Given the description of an element on the screen output the (x, y) to click on. 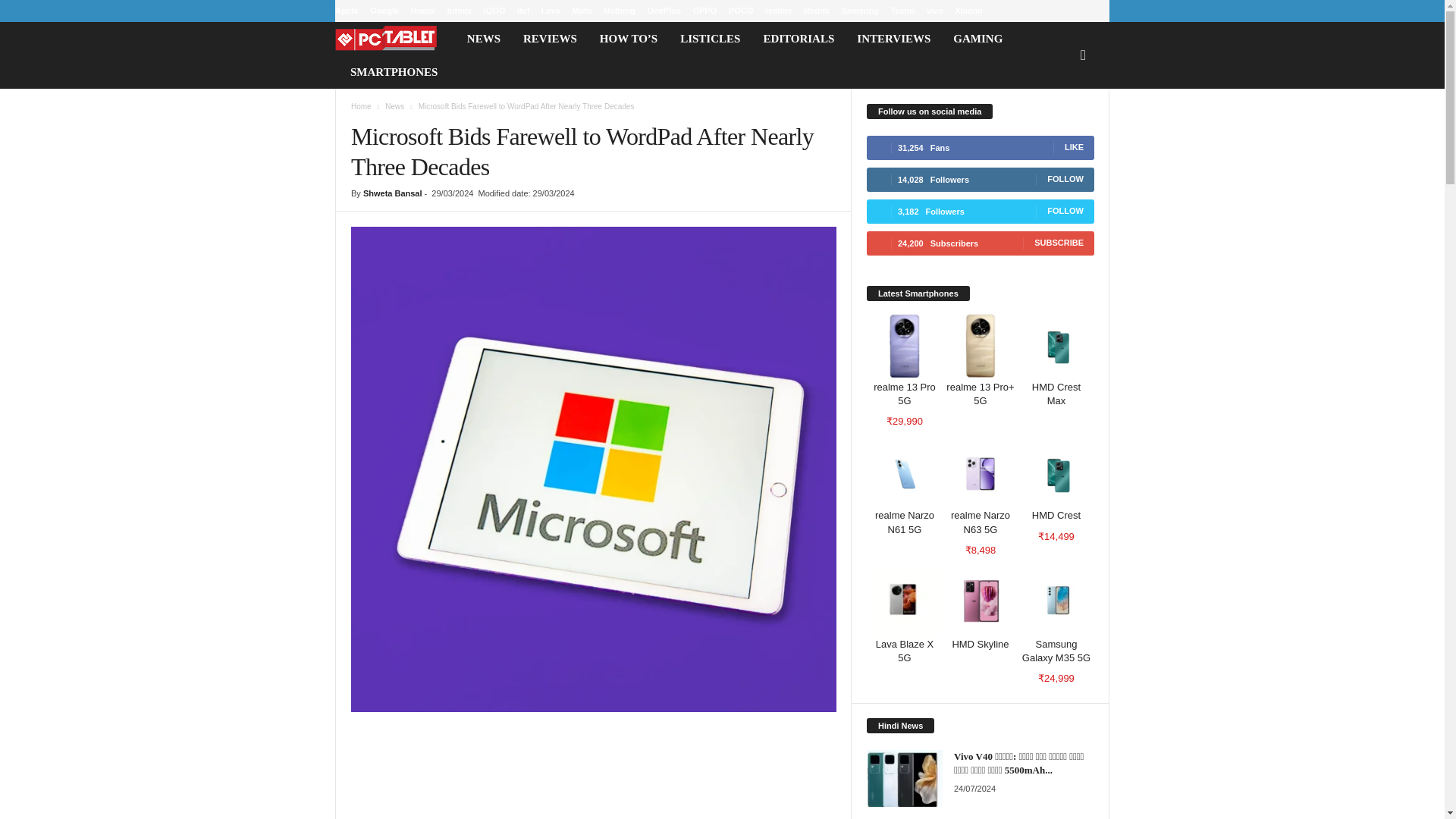
GAMING (977, 38)
REVIEWS (550, 38)
POCO (740, 10)
itel (522, 10)
iQOO (494, 10)
Google (383, 10)
Lava (550, 10)
LISTICLES (709, 38)
OPPO (705, 10)
Moto (581, 10)
EDITORIALS (798, 38)
Infinix (458, 10)
PC-Tablet India (394, 39)
OnePlus (663, 10)
